Given the description of an element on the screen output the (x, y) to click on. 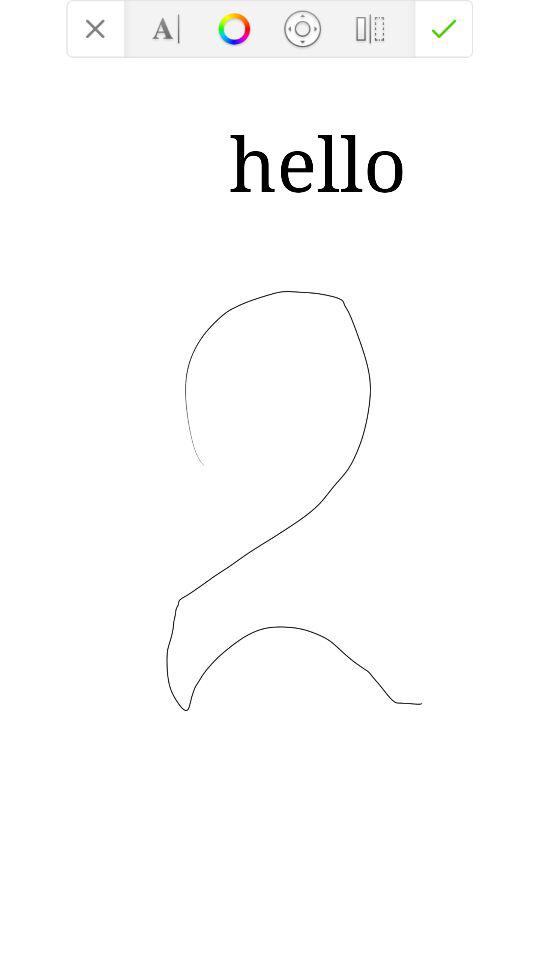
cancel (95, 28)
